Given the description of an element on the screen output the (x, y) to click on. 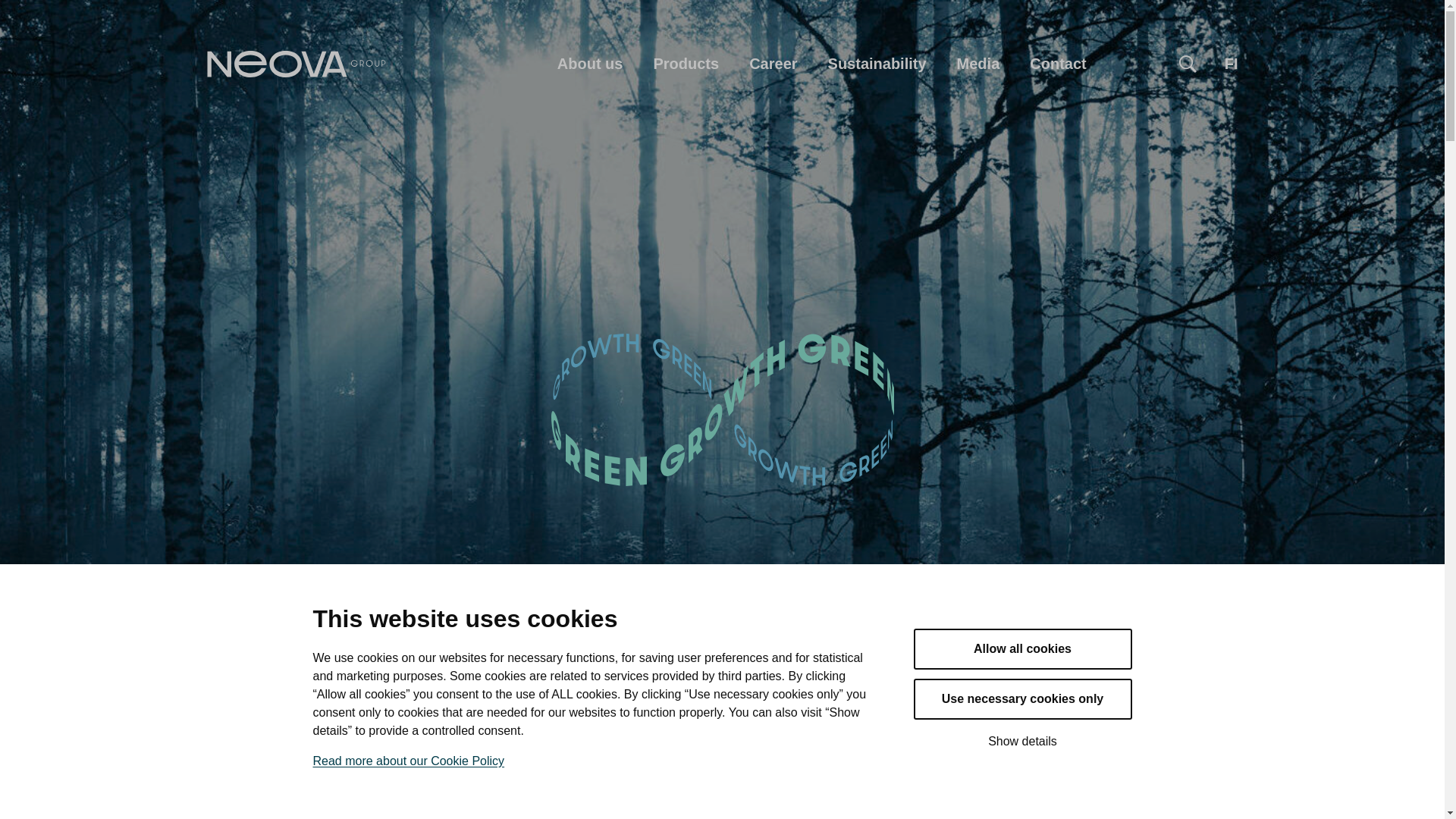
Read more about our Cookie Policy (408, 760)
Use necessary cookies only (1021, 698)
Allow all cookies (1021, 648)
Show details (1021, 741)
Read more about our Cookie Policy (408, 760)
